Given the description of an element on the screen output the (x, y) to click on. 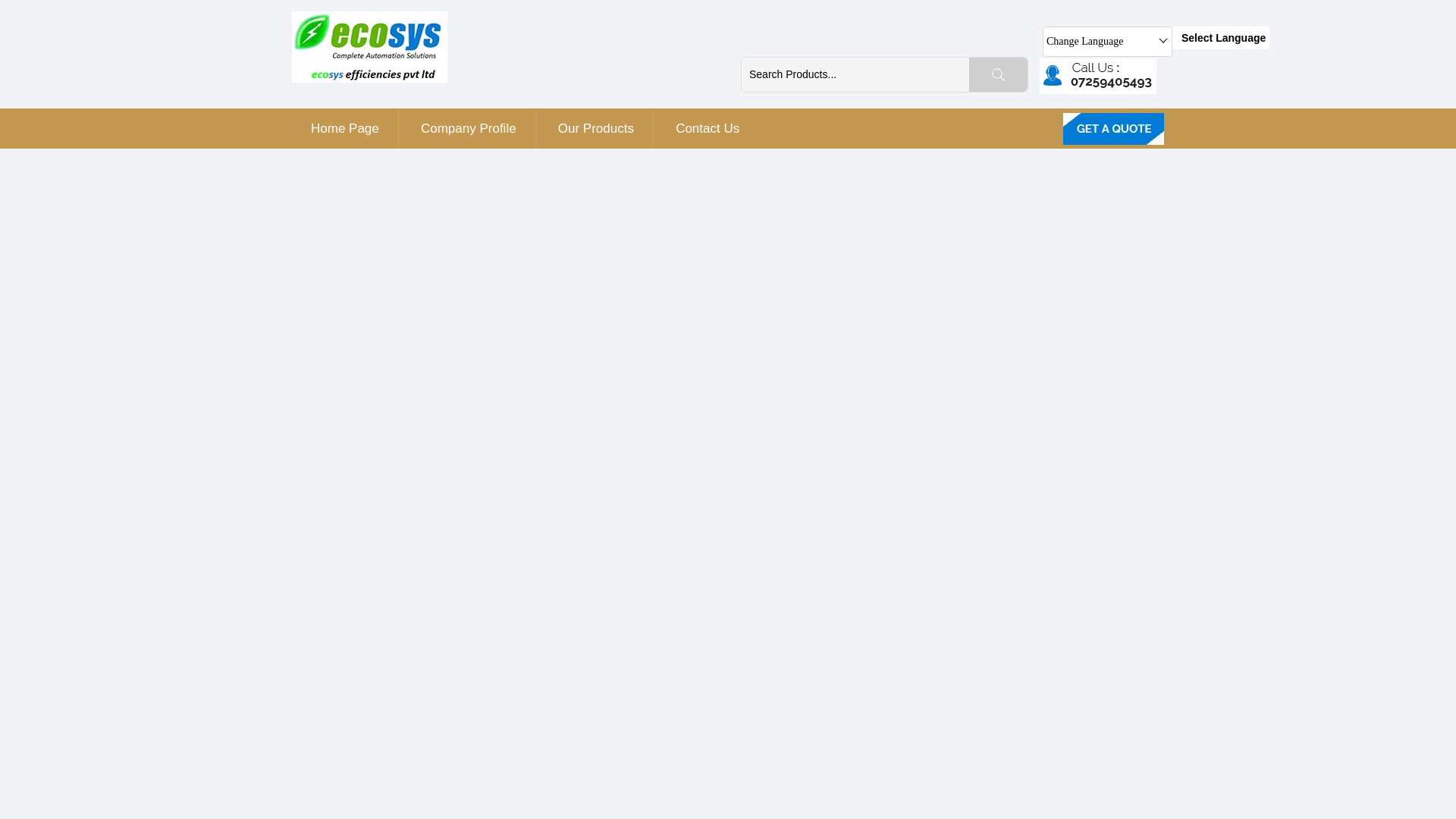
ECOSYS EFFICIENCIES PVT. LTD. (369, 46)
Company Profile (468, 128)
submit (998, 74)
Select Language (1220, 37)
Our Products (595, 128)
Call Us (1101, 75)
Search Products... (855, 73)
Send Inquiry (1112, 128)
Home Page (344, 128)
